Given the description of an element on the screen output the (x, y) to click on. 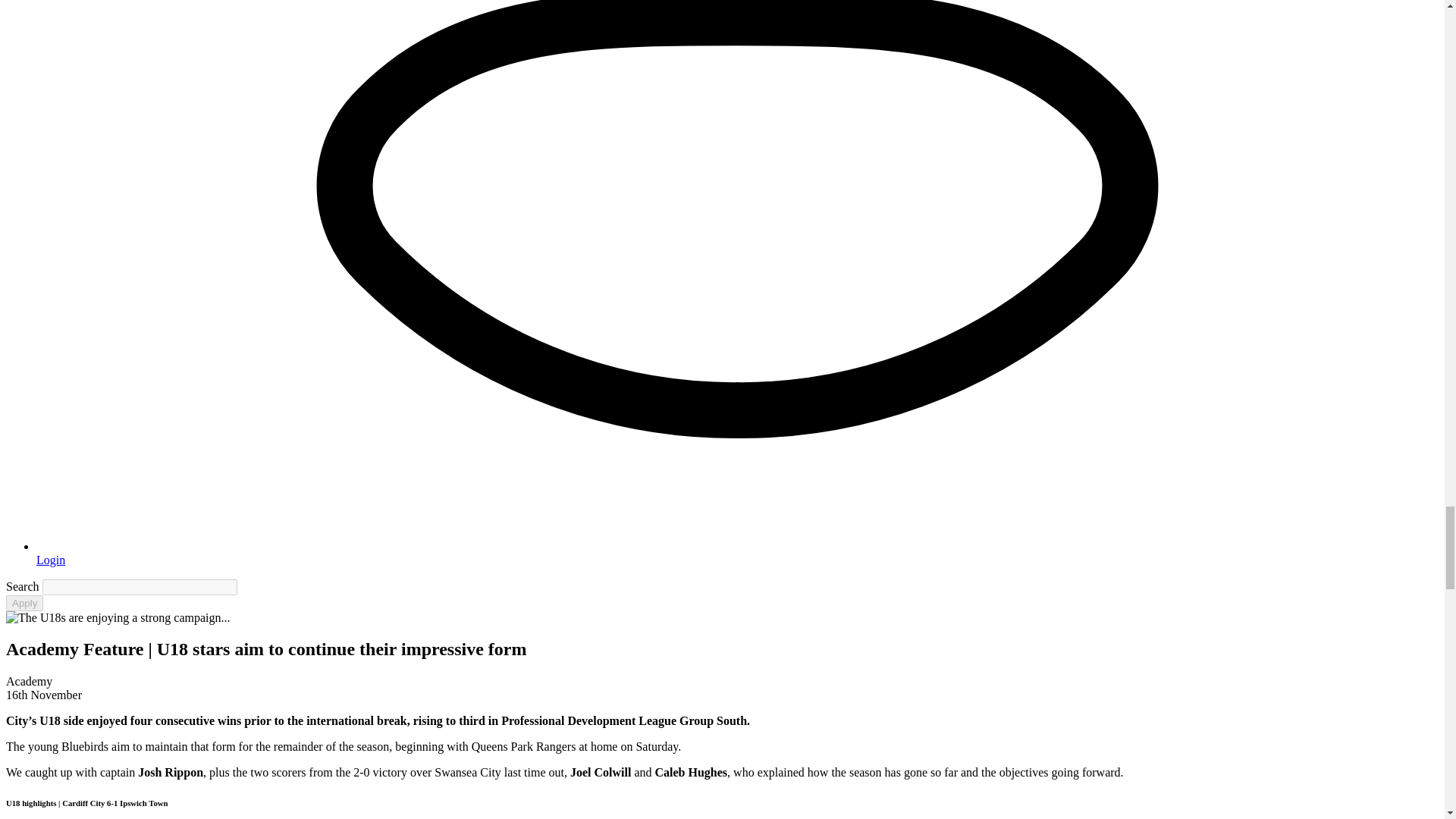
Apply (24, 602)
